Given the description of an element on the screen output the (x, y) to click on. 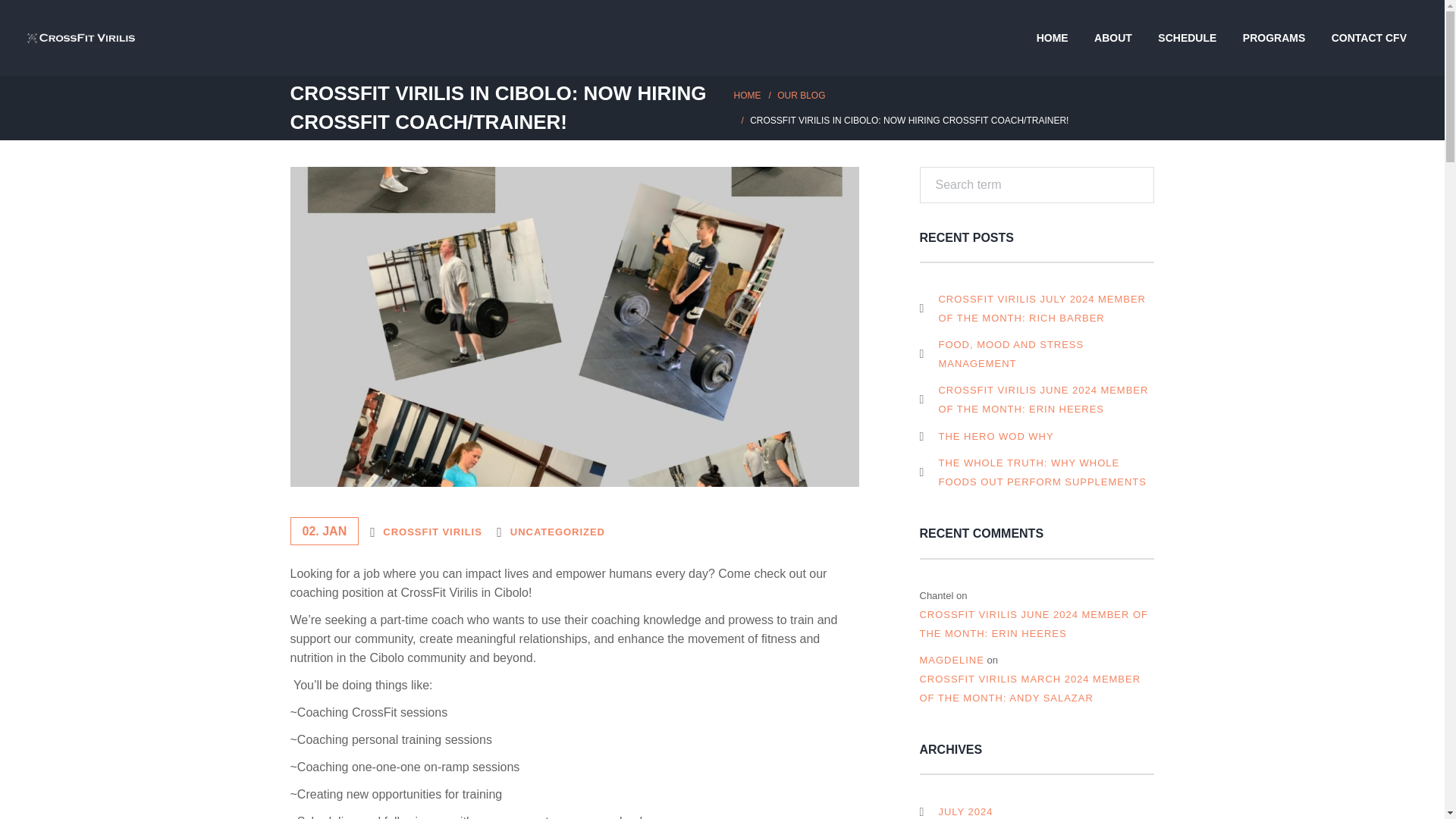
HOME (1052, 37)
SCHEDULE (1186, 37)
CONTACT CFV (1369, 37)
Posts by Crossfit Virilis (431, 531)
ABOUT (1113, 37)
Crossfit Virilis (81, 38)
PROGRAMS (1273, 37)
